Given the description of an element on the screen output the (x, y) to click on. 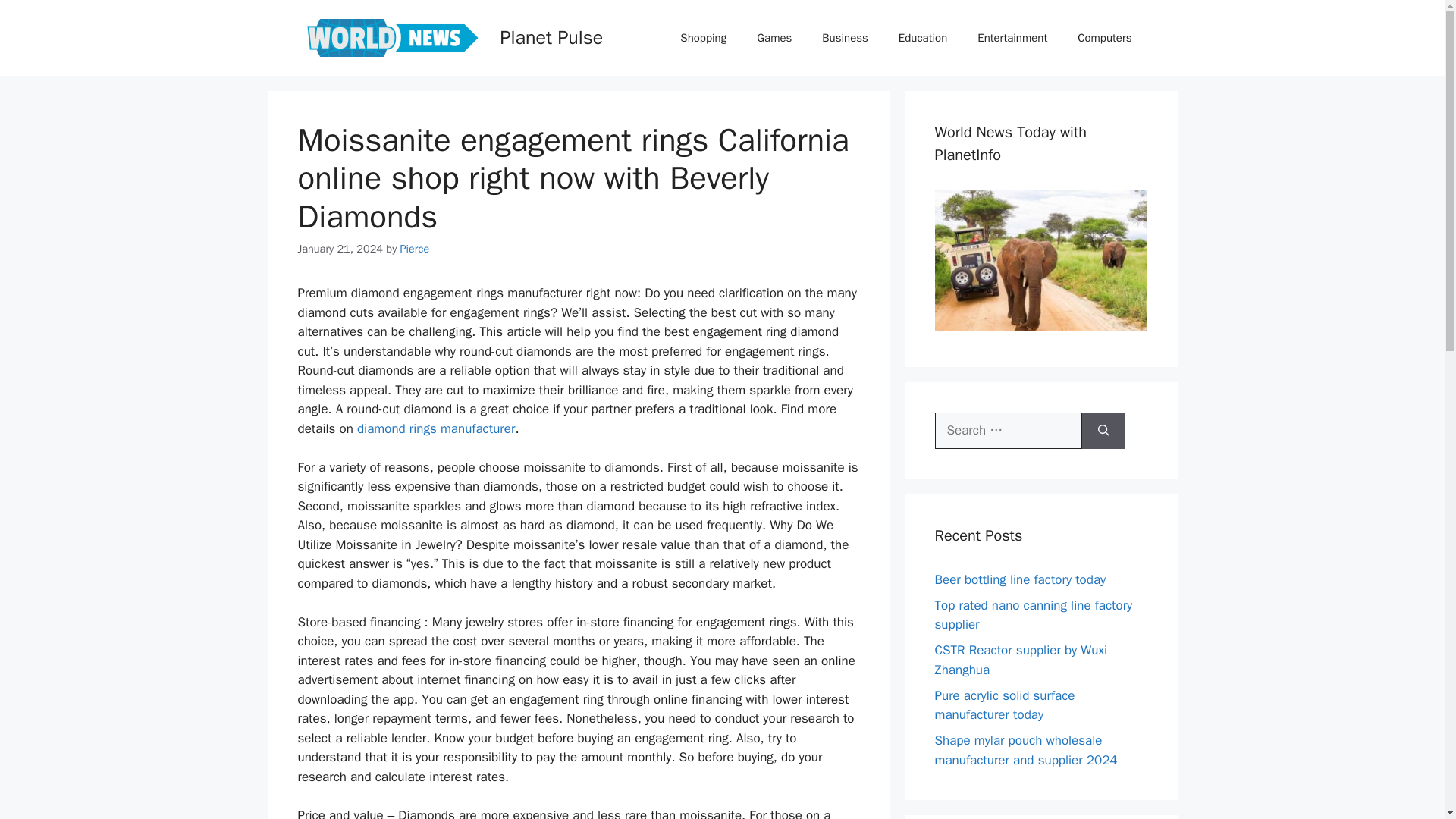
Computers (1104, 37)
Education (922, 37)
Business (844, 37)
Search for: (1007, 430)
Planet Pulse (552, 37)
Shopping (703, 37)
CSTR Reactor supplier by Wuxi Zhanghua (1020, 660)
Planet Pulse (391, 37)
Games (773, 37)
View all posts by Pierce (414, 248)
